Given the description of an element on the screen output the (x, y) to click on. 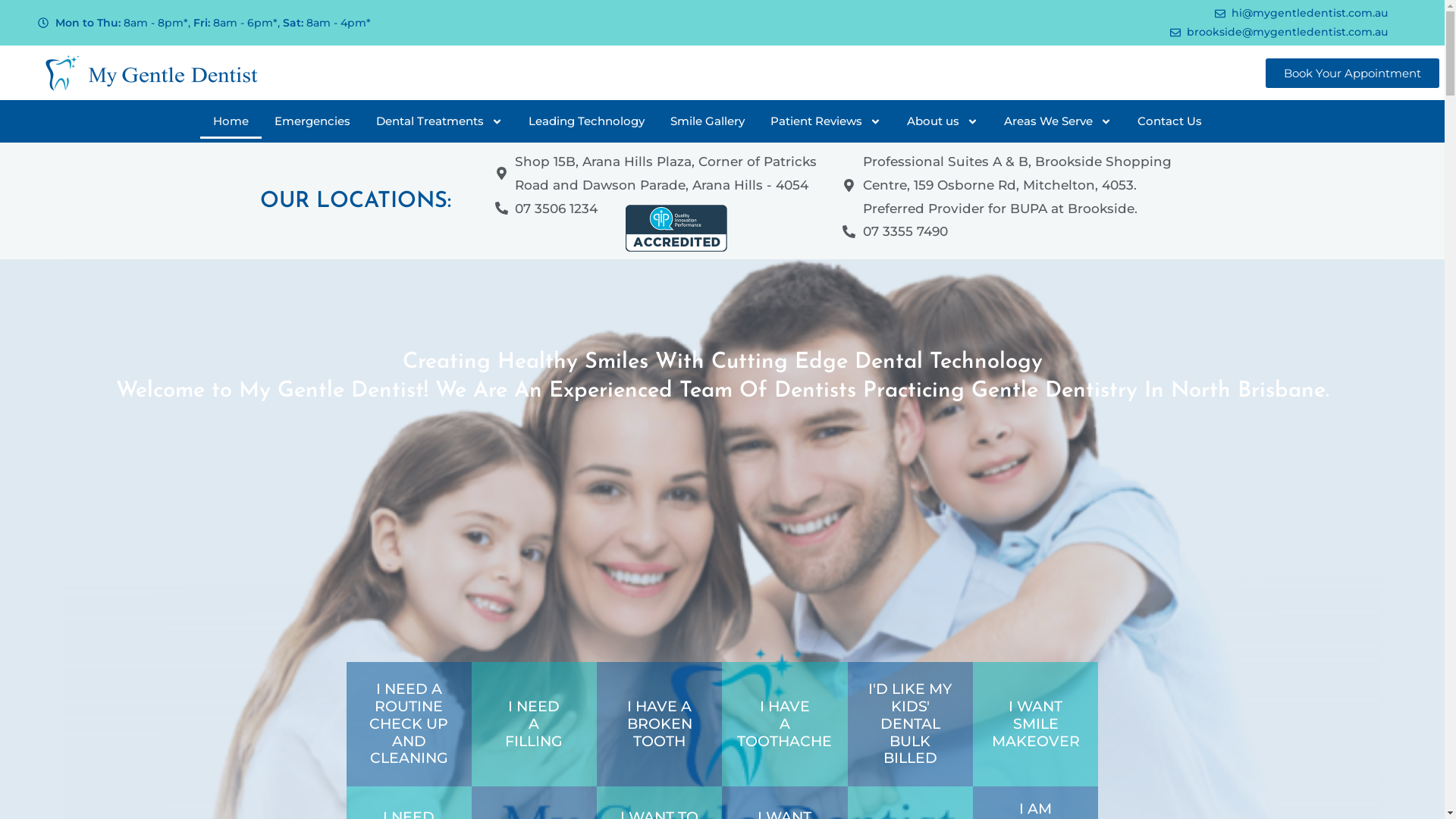
Home Element type: text (230, 120)
Dental Treatments Element type: text (439, 120)
Book Your Appointment Element type: text (1352, 72)
Contact Us Element type: text (1169, 120)
I HAVE A
BROKEN
TOOTH Element type: text (659, 723)
I HAVE
A
TOOTHACHE Element type: text (784, 723)
QIP Element type: hover (676, 227)
brookside@mygentledentist.com.au Element type: text (1054, 31)
I WANT
SMILE
MAKEOVER Element type: text (1035, 723)
I NEED A
ROUTINE CHECK UP
AND CLEANING Element type: text (408, 723)
hi@mygentledentist.com.au Element type: text (1054, 12)
07 3355 7490 Element type: text (894, 231)
Patient Reviews Element type: text (825, 120)
I'D LIKE MY
KIDS' DENTAL
BULK BILLED Element type: text (909, 723)
About us Element type: text (942, 120)
Smile Gallery Element type: text (707, 120)
Areas We Serve Element type: text (1057, 120)
Leading Technology Element type: text (586, 120)
07 3506 1234 Element type: text (545, 208)
I NEED
A
FILLING Element type: text (533, 723)
Emergencies Element type: text (312, 120)
